Given the description of an element on the screen output the (x, y) to click on. 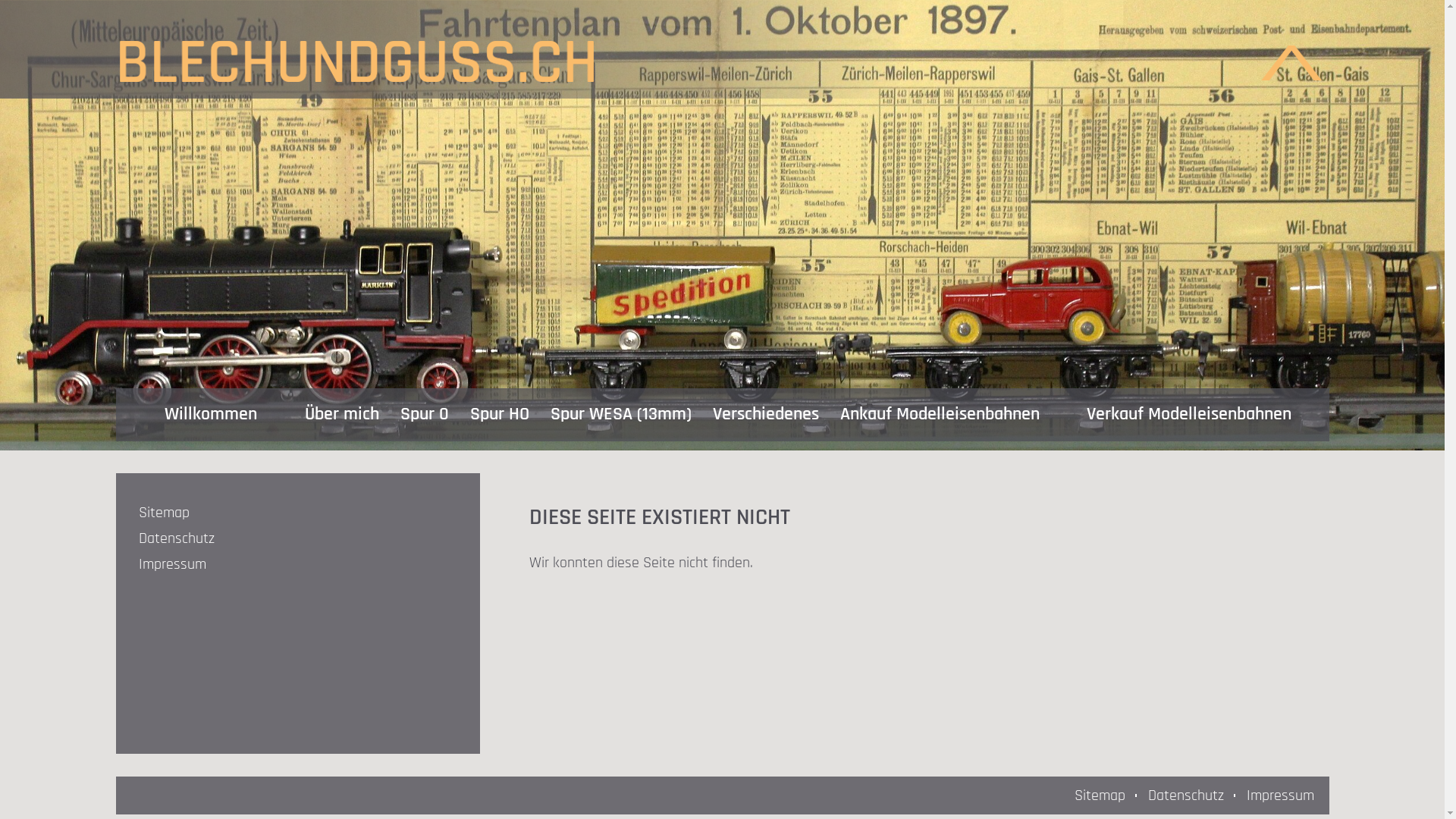
Willkommen Element type: text (210, 414)
Datenschutz Element type: text (1184, 795)
Sitemap Element type: text (1099, 795)
Impressum Element type: text (289, 564)
Spur WESA (13mm) Element type: text (620, 414)
Verschiedenes Element type: text (765, 414)
Ankauf Modelleisenbahnen Element type: text (939, 414)
Datenschutz Element type: text (289, 538)
Spur 0 Element type: text (424, 414)
Impressum Element type: text (1279, 795)
Sitemap Element type: text (289, 512)
Spur HO Element type: text (499, 414)
Verkauf Modelleisenbahnen Element type: text (1188, 414)
